Given the description of an element on the screen output the (x, y) to click on. 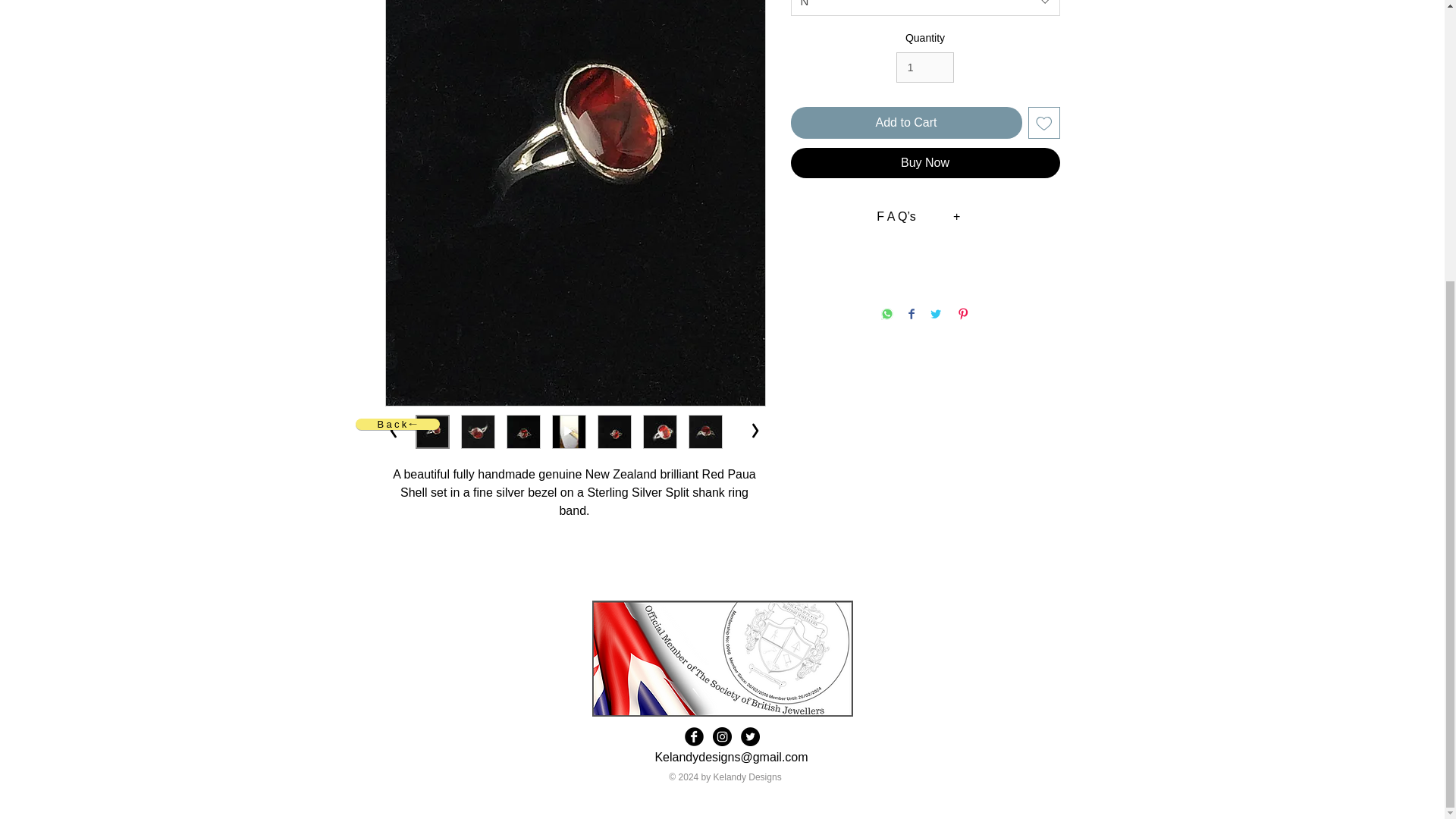
Use right and left arrows to navigate between tabs (957, 216)
1 (924, 67)
Use right and left arrows to navigate between tabs (896, 216)
